Given the description of an element on the screen output the (x, y) to click on. 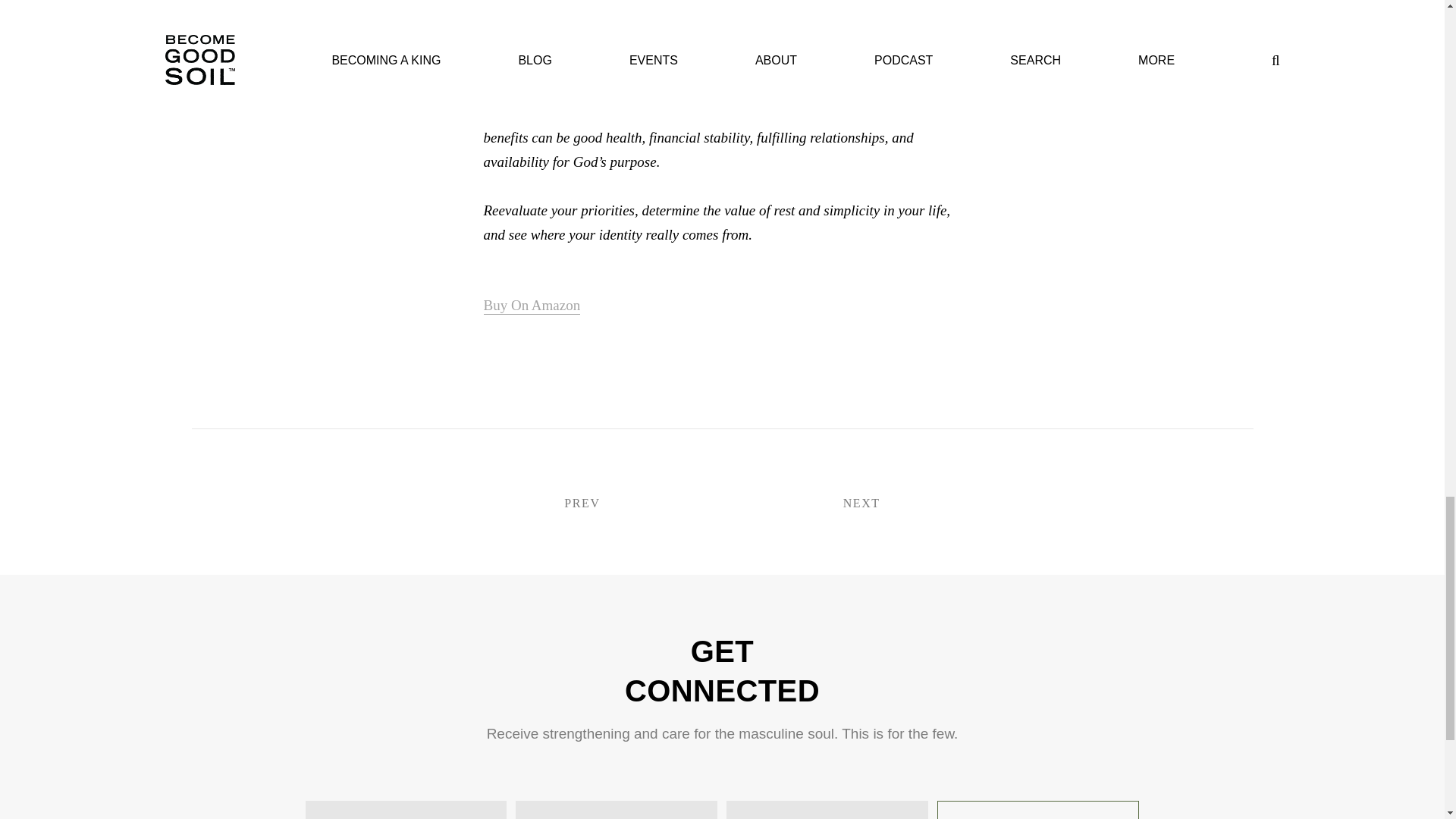
Buy On Amazon (531, 305)
PREV (624, 503)
Join (1037, 809)
Join (1037, 809)
NEXT (818, 503)
